Given the description of an element on the screen output the (x, y) to click on. 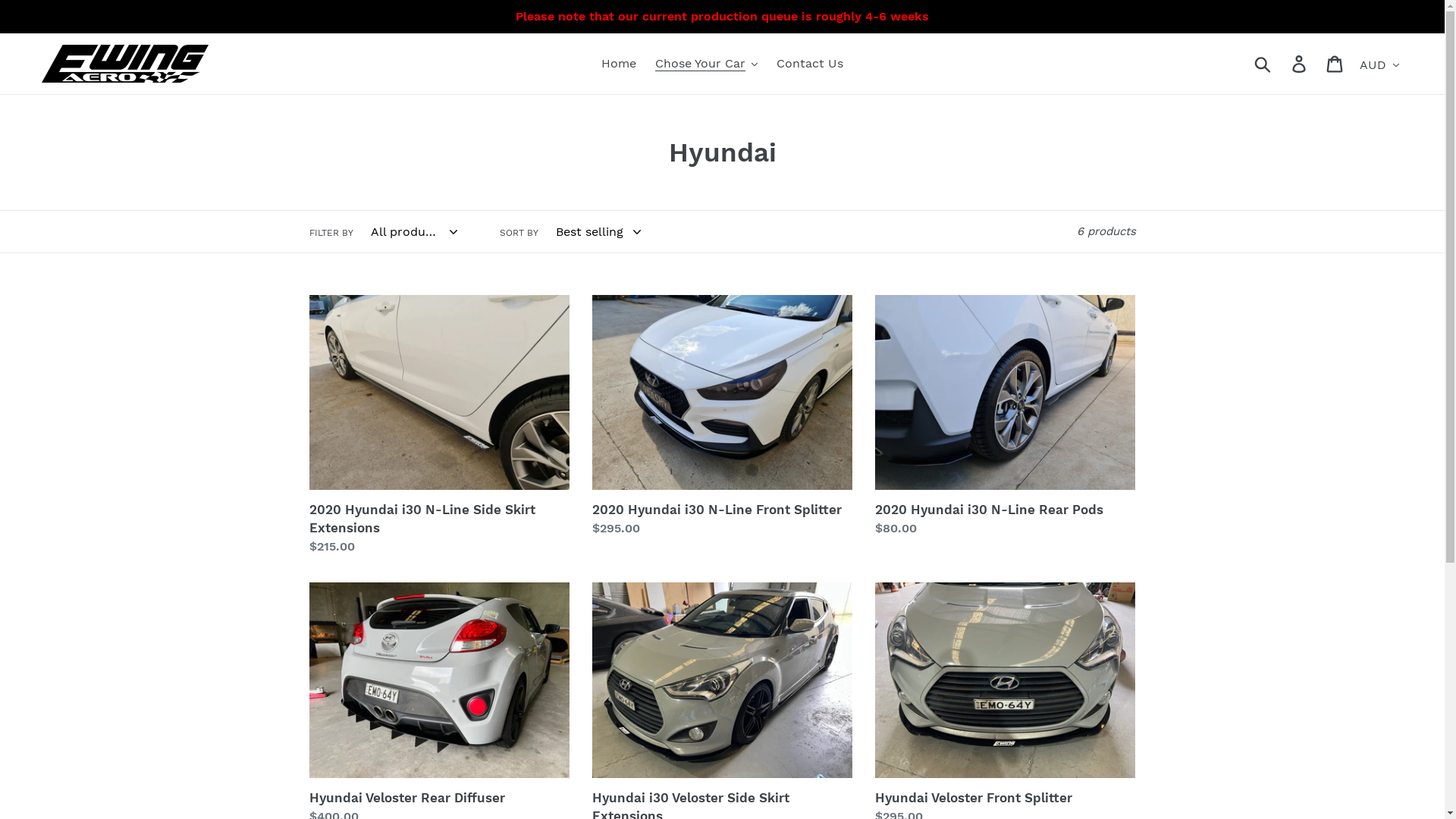
Submit Element type: text (1263, 63)
2020 Hyundai i30 N-Line Front Splitter Element type: text (722, 415)
2020 Hyundai i30 N-Line Side Skirt Extensions Element type: text (439, 424)
Home Element type: text (618, 63)
Cart Element type: text (1335, 64)
Contact Us Element type: text (809, 63)
2020 Hyundai i30 N-Line Rear Pods Element type: text (1005, 415)
Log in Element type: text (1299, 64)
